Given the description of an element on the screen output the (x, y) to click on. 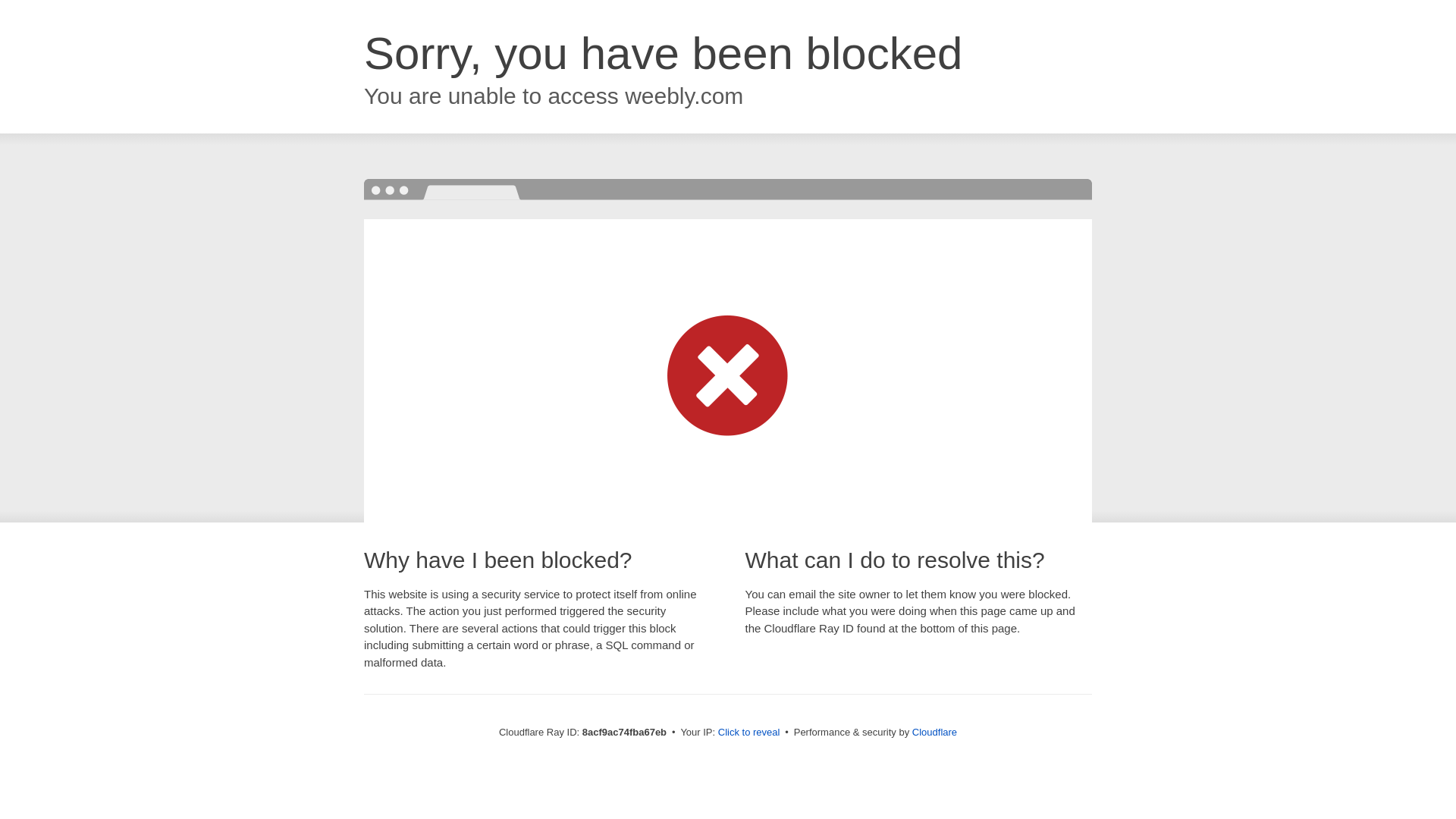
Click to reveal (748, 732)
Cloudflare (934, 731)
